Given the description of an element on the screen output the (x, y) to click on. 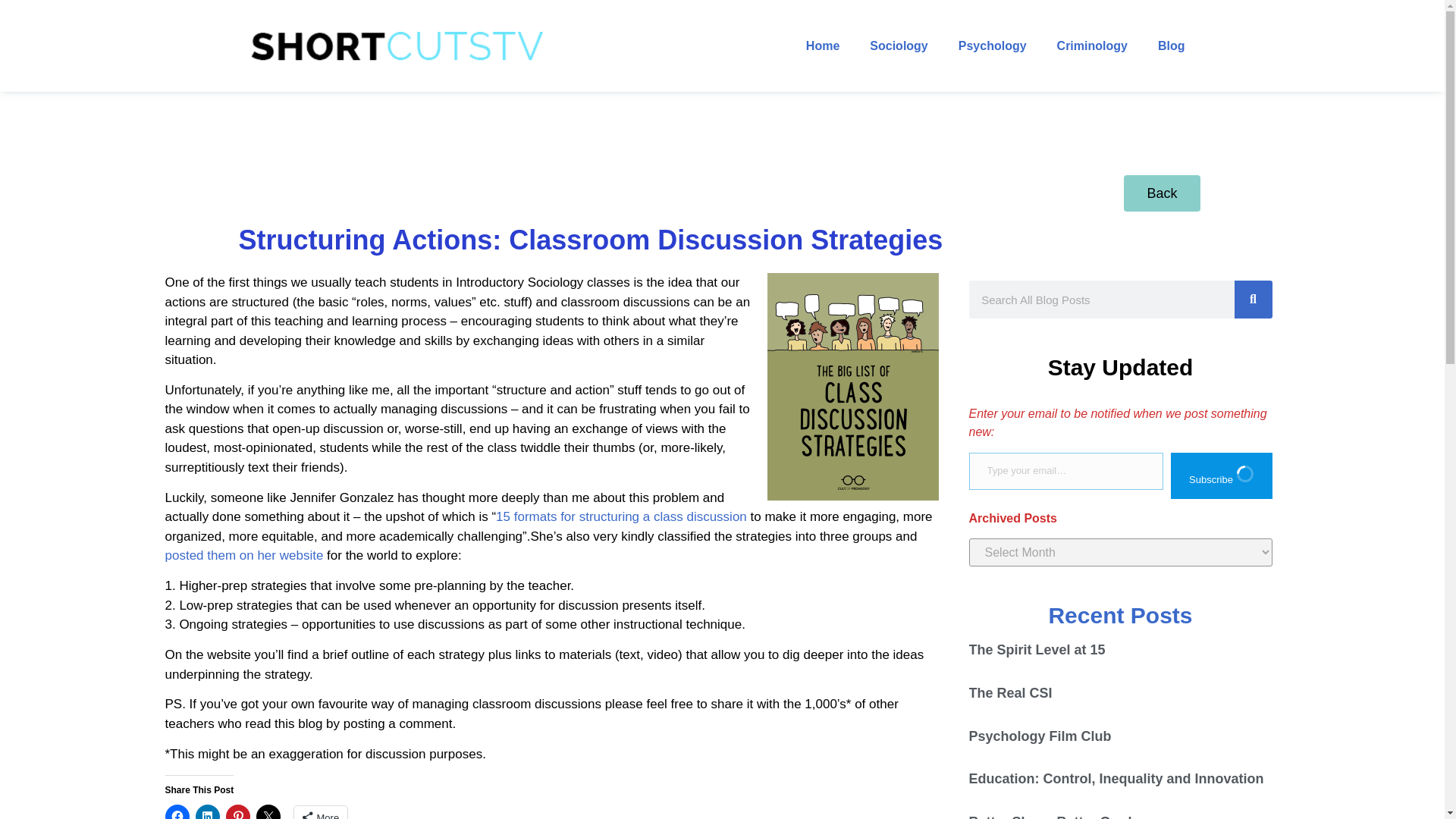
Blog (1170, 46)
Education: Control, Inequality and Innovation (1116, 778)
Subscribe (1220, 475)
Criminology (1092, 46)
Back (1161, 193)
More (320, 812)
Please fill in this field. (1066, 470)
Psychology (992, 46)
Click to share on X (268, 811)
Click to share on Facebook (177, 811)
